Given the description of an element on the screen output the (x, y) to click on. 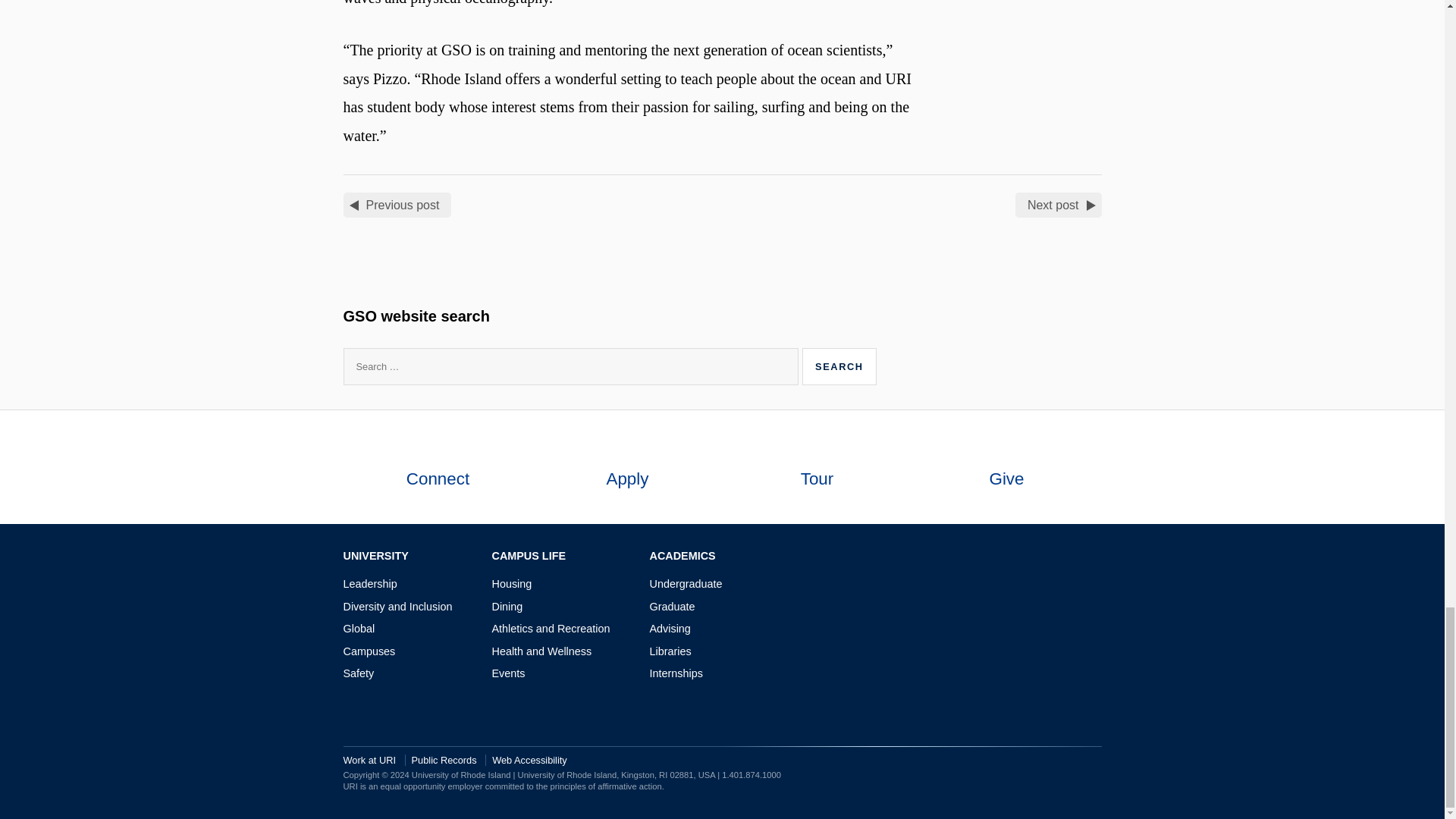
Safety (358, 673)
Previous post (396, 204)
Leadership (369, 583)
Instagram (1048, 557)
Global (358, 628)
YouTube (1093, 557)
Next post (1058, 204)
Housing (511, 583)
Learn more about URI: Get in touch (437, 449)
X (1070, 557)
